Given the description of an element on the screen output the (x, y) to click on. 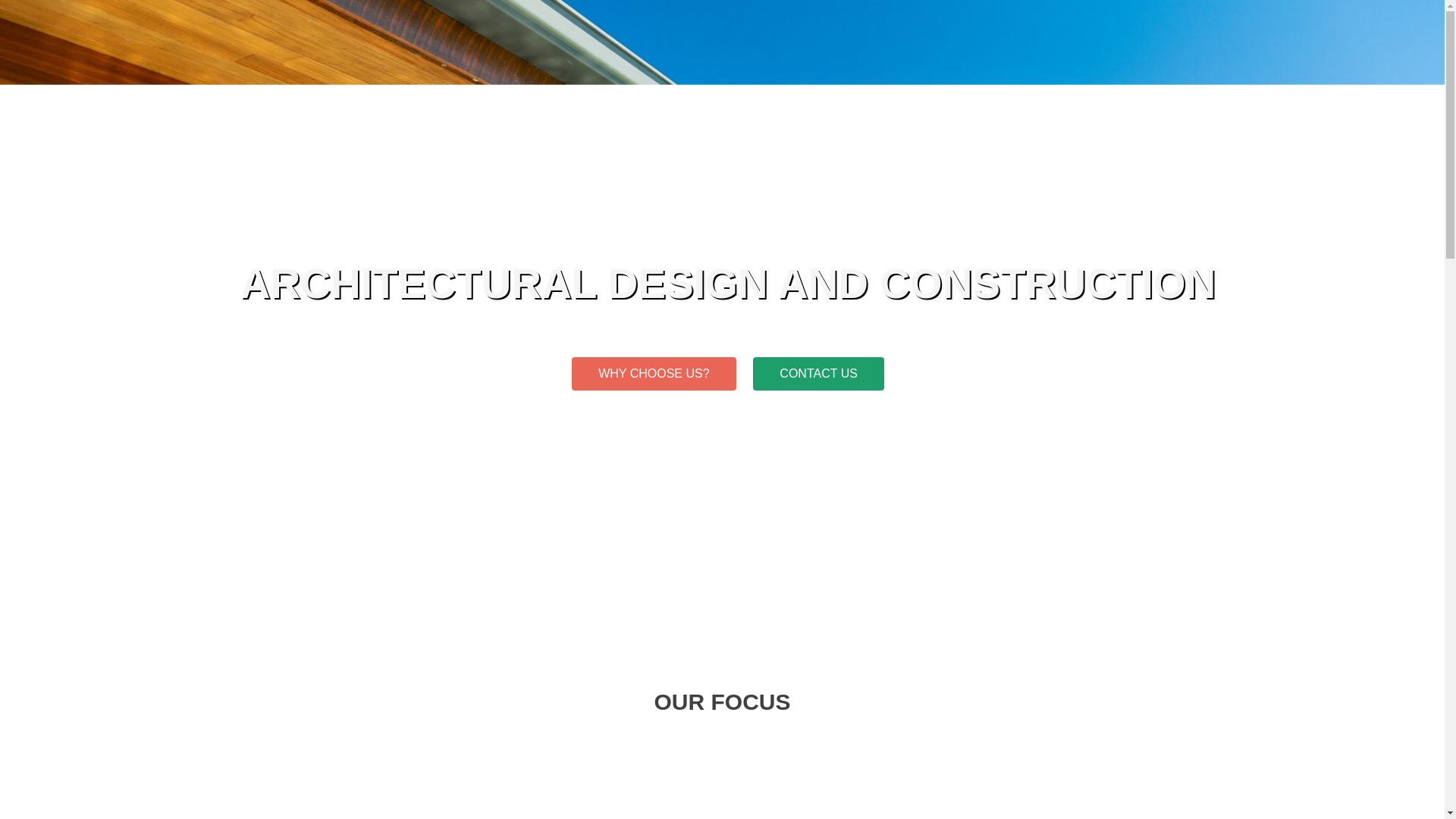
CONTACT US (817, 373)
CONTACT US (817, 373)
WHY CHOOSE US? (653, 373)
WHY CHOOSE US? (653, 373)
